Given the description of an element on the screen output the (x, y) to click on. 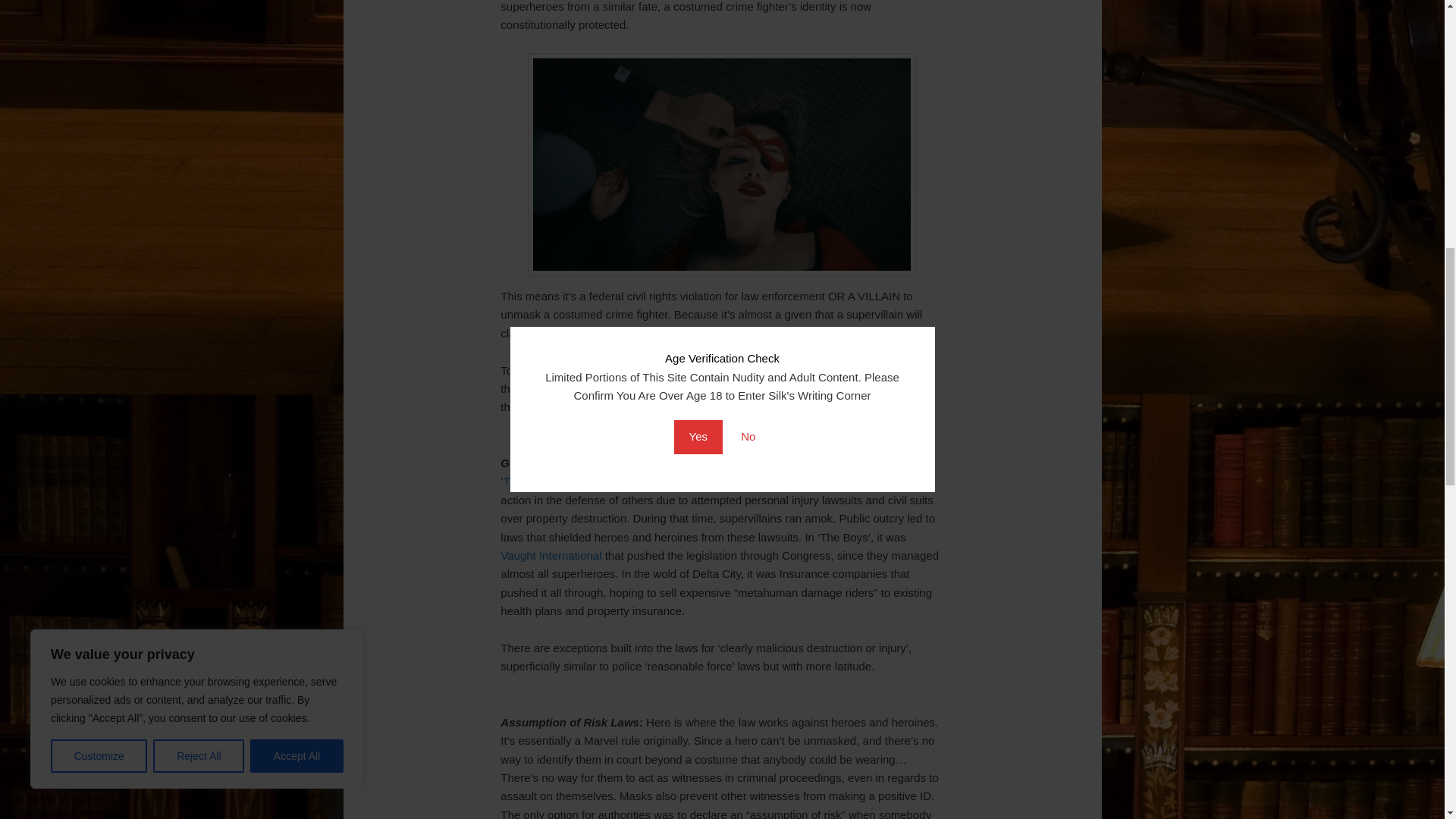
Vaught International (550, 554)
The Boys (527, 481)
